Given the description of an element on the screen output the (x, y) to click on. 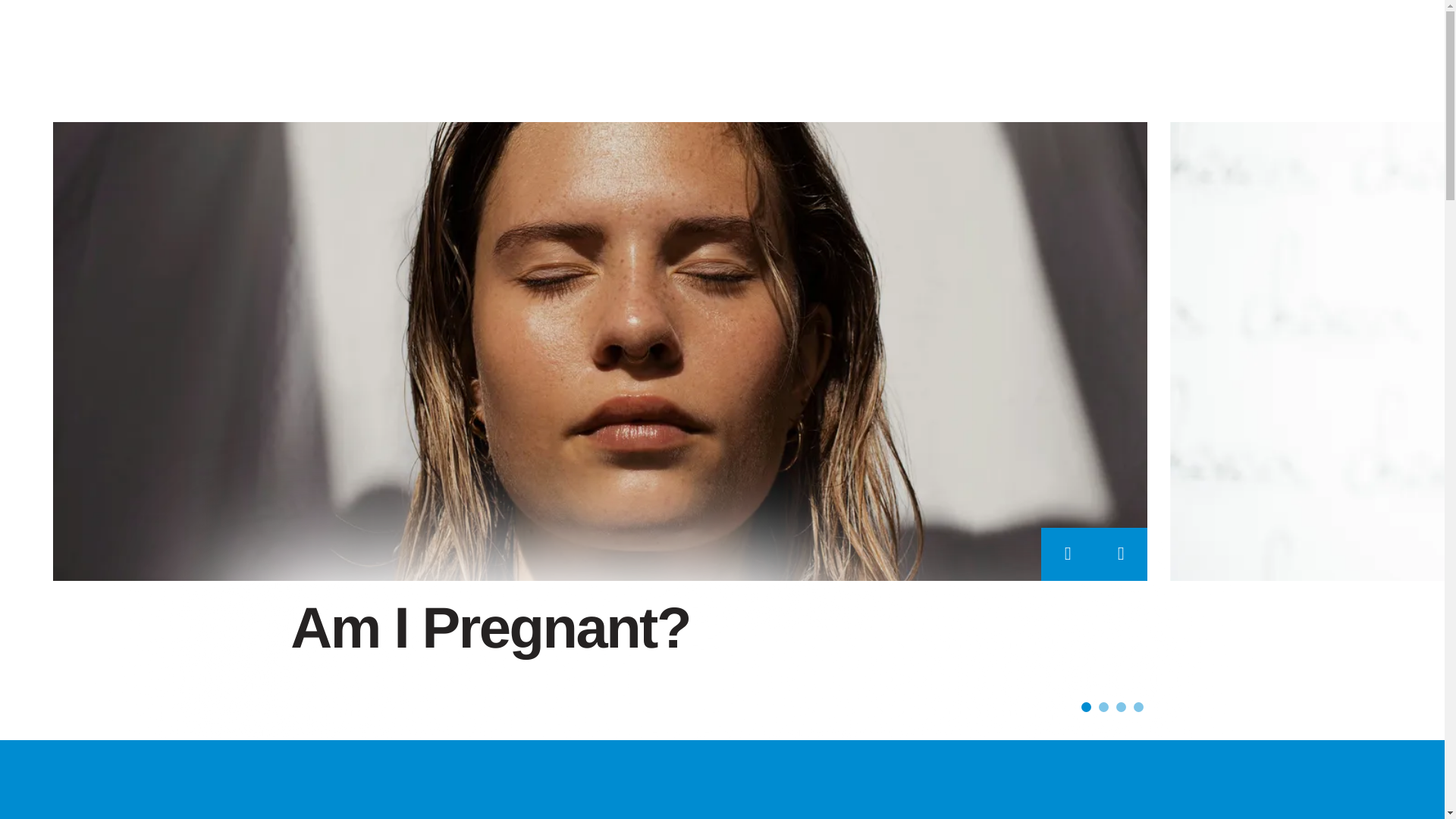
Go to Previous Slide (1067, 553)
Go to Next Slide (1120, 553)
Go to Previous Slide (1067, 553)
Go to Next Slide (1120, 553)
